Given the description of an element on the screen output the (x, y) to click on. 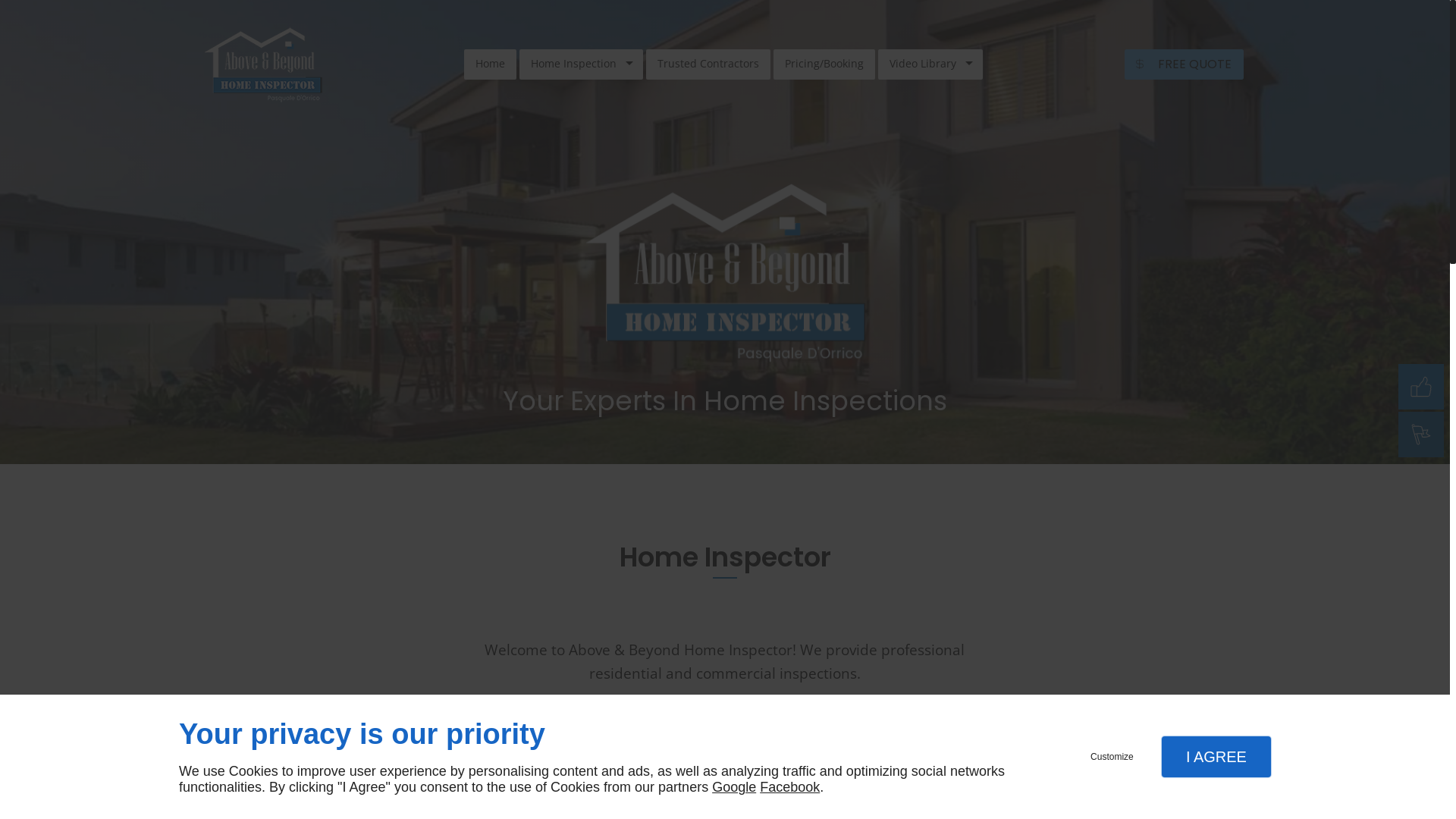
Home Element type: text (490, 63)
FREE QUOTE Element type: text (1183, 63)
Home Inspection Element type: text (581, 63)
Trusted Contractors Element type: text (708, 63)
Video Library Element type: text (930, 63)
Pricing/Booking Element type: text (824, 63)
Google Element type: text (734, 786)
Facebook Element type: text (789, 786)
